Given the description of an element on the screen output the (x, y) to click on. 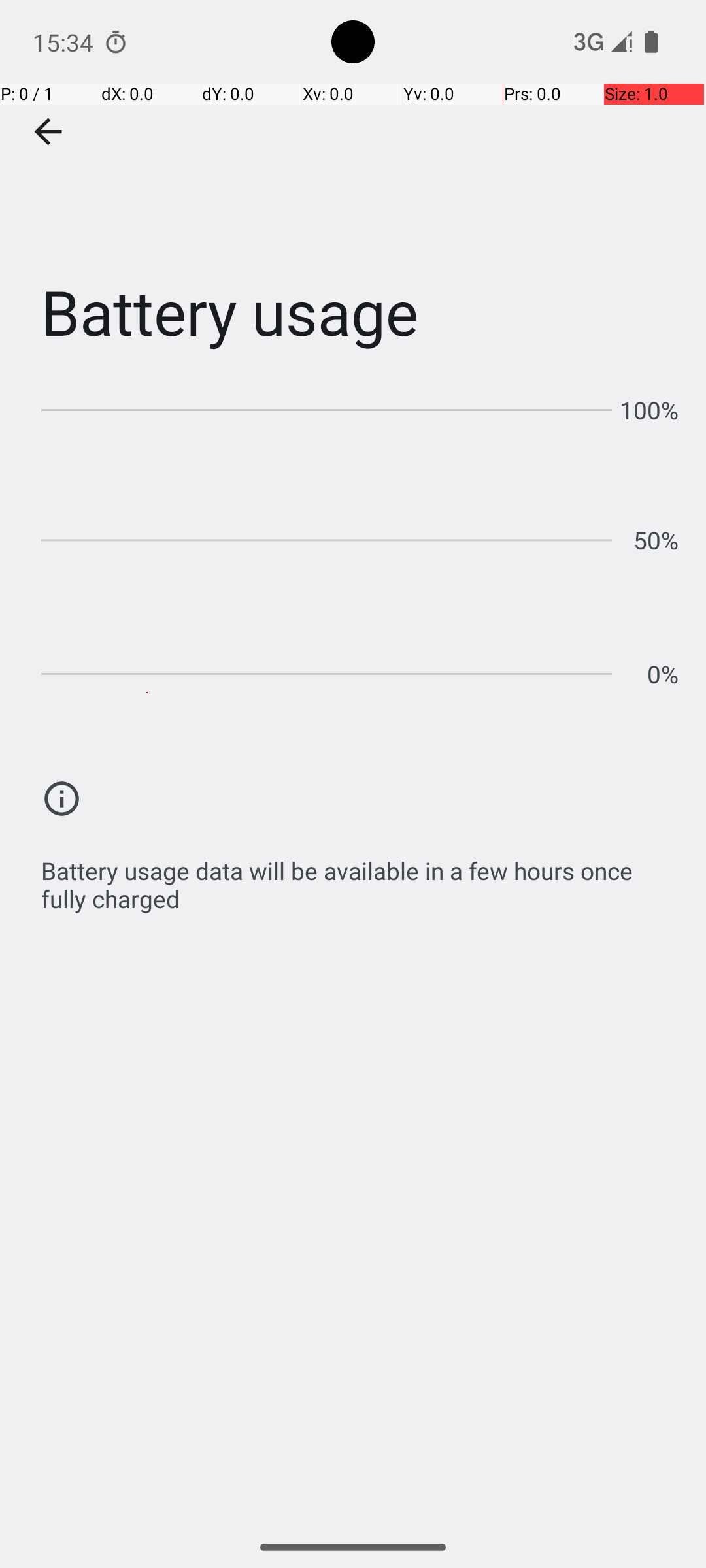
Hourly battery usage chart Element type: android.widget.ImageView (359, 536)
Battery usage data will be available in a few hours once fully charged Element type: android.widget.TextView (359, 877)
